Given the description of an element on the screen output the (x, y) to click on. 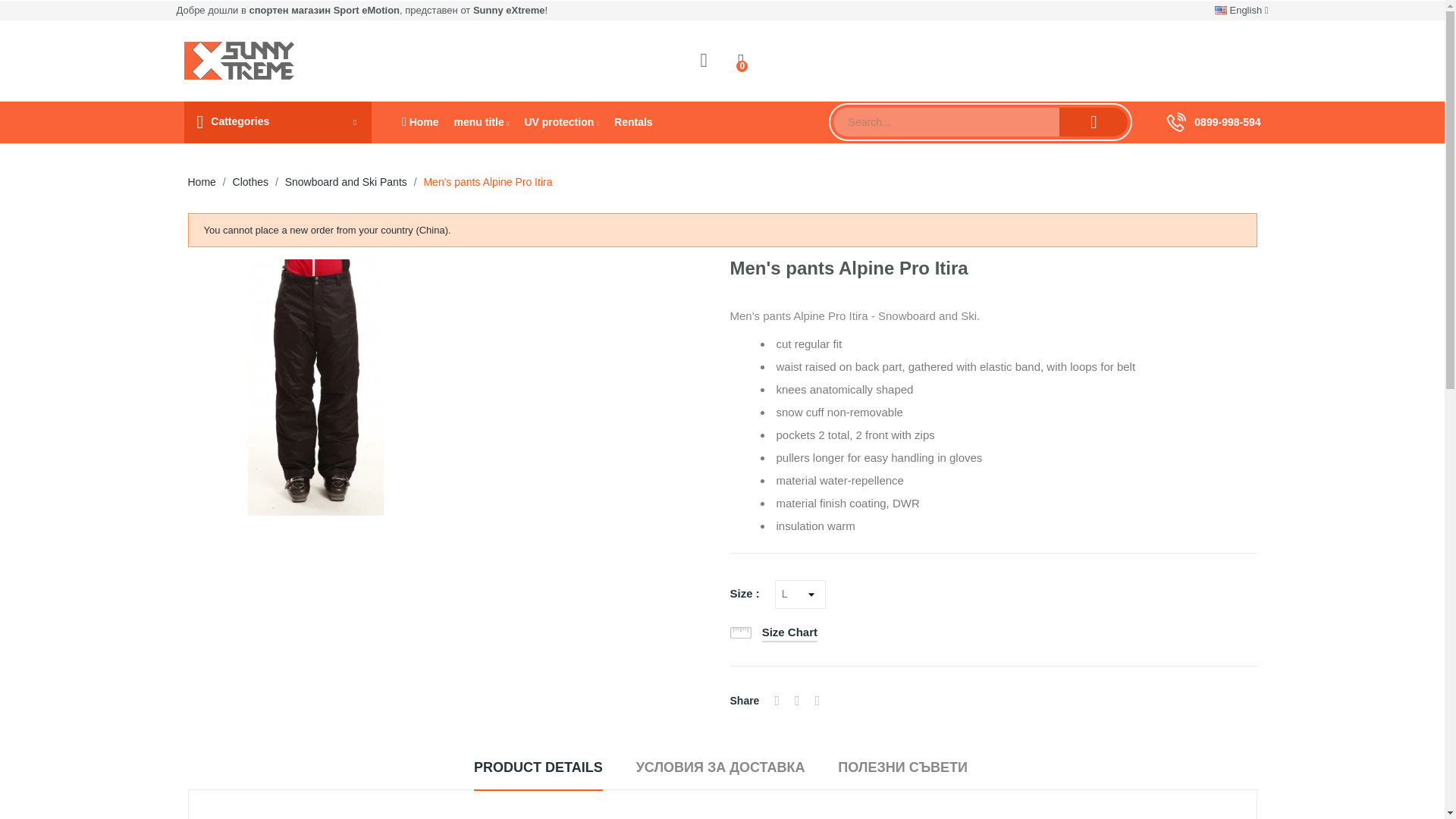
Men's pants Alpine Pro Itira - 1 (315, 387)
Tweet (797, 700)
search button (1092, 121)
Share (777, 700)
Pinterest (818, 700)
